Given the description of an element on the screen output the (x, y) to click on. 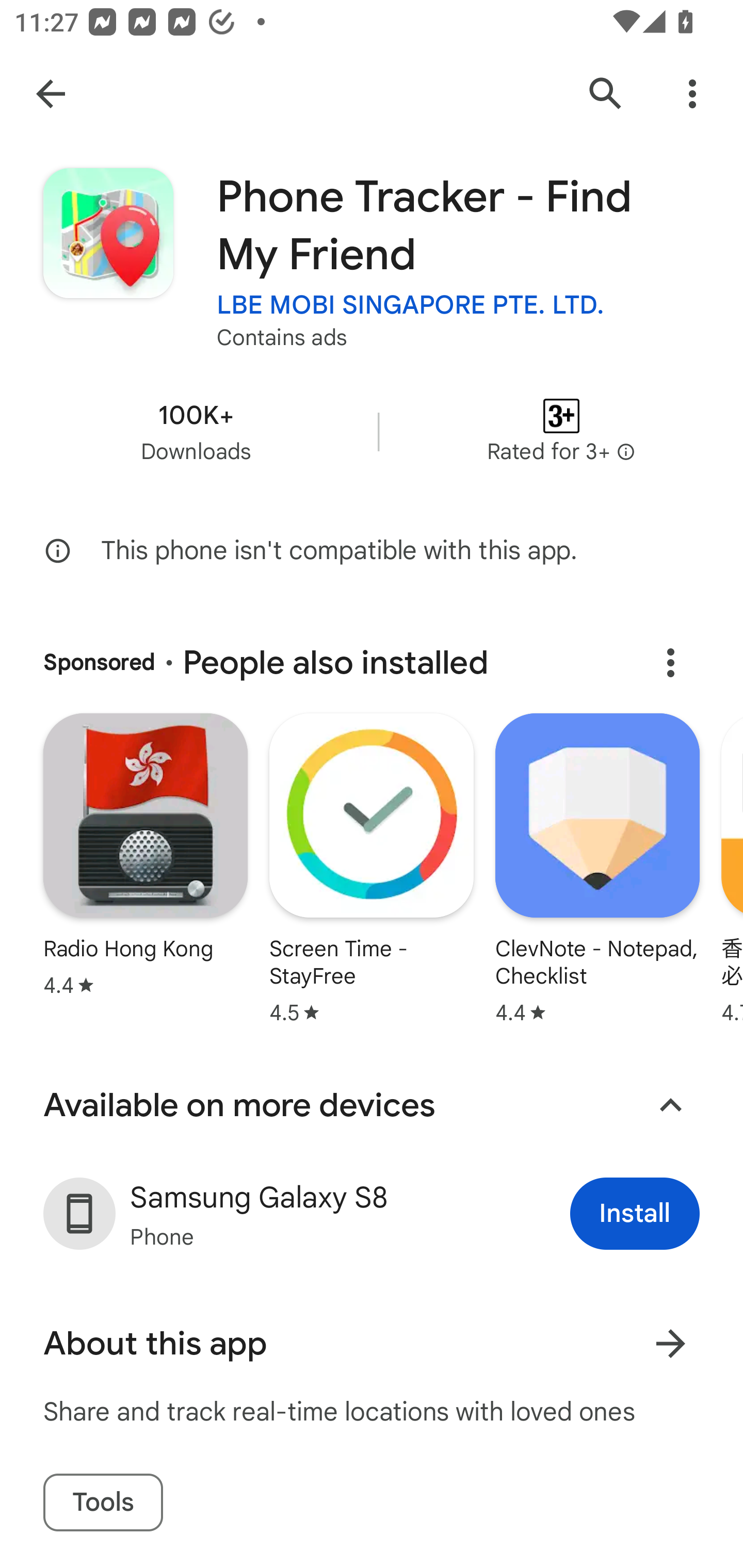
Navigate up (50, 93)
Search Google Play (605, 93)
More Options (692, 93)
LBE MOBI SINGAPORE PTE. LTD. (410, 304)
Content rating Rated for 3+ (561, 431)
About this ad (670, 662)
Radio Hong Kong
Star rating: 4.4
 (145, 857)
Screen Time - StayFree
Star rating: 4.5
 (371, 870)
ClevNote - Notepad, Checklist
Star rating: 4.4
 (597, 870)
Available on more devices Collapse (371, 1105)
Collapse (670, 1105)
Install (634, 1213)
About this app Learn more About this app (371, 1343)
Learn more About this app (670, 1343)
Tools tag (102, 1502)
